Given the description of an element on the screen output the (x, y) to click on. 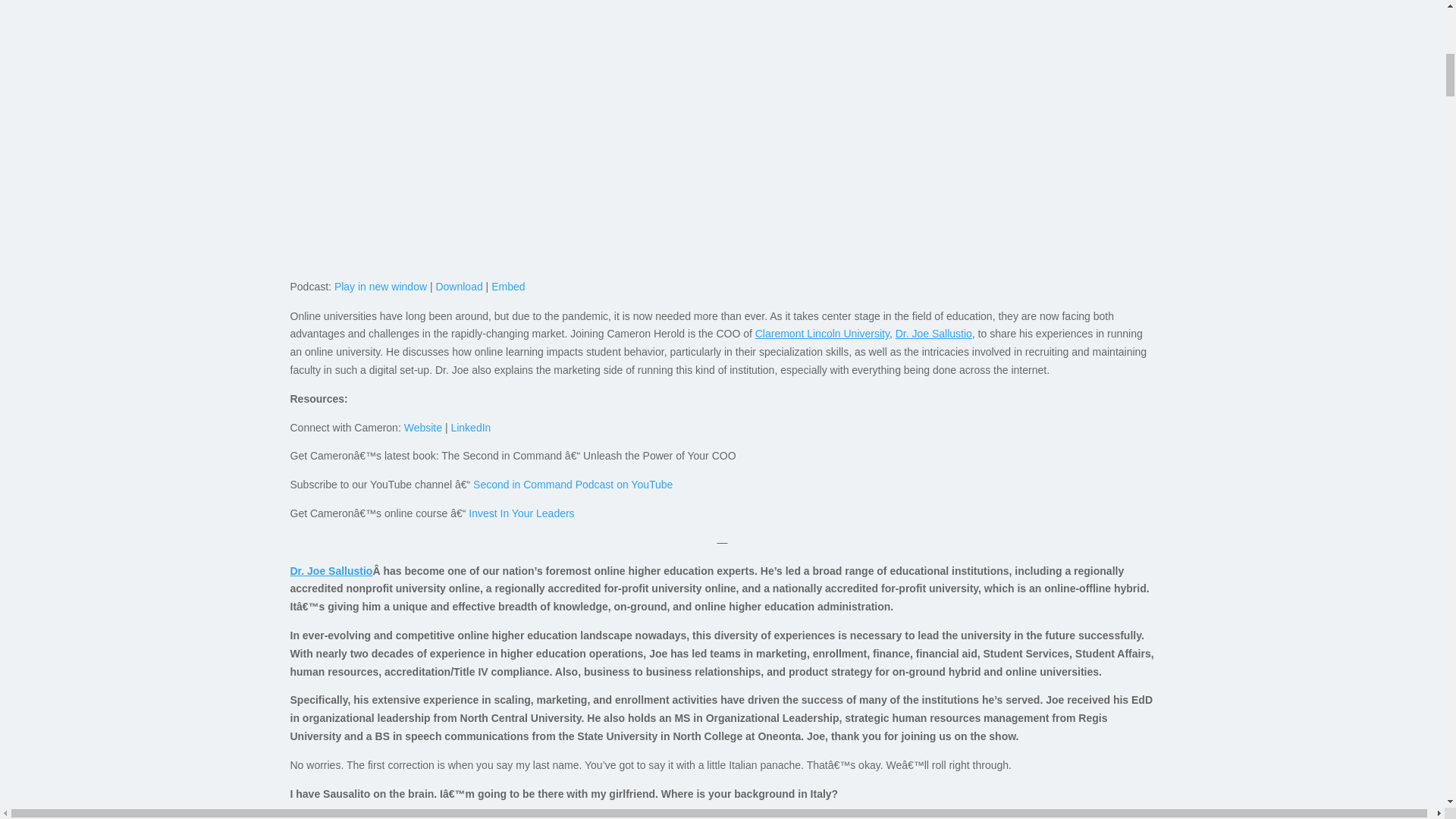
Play in new window (380, 286)
Blubrry Podcast Player (721, 209)
Embed (508, 286)
Download (458, 286)
